Given the description of an element on the screen output the (x, y) to click on. 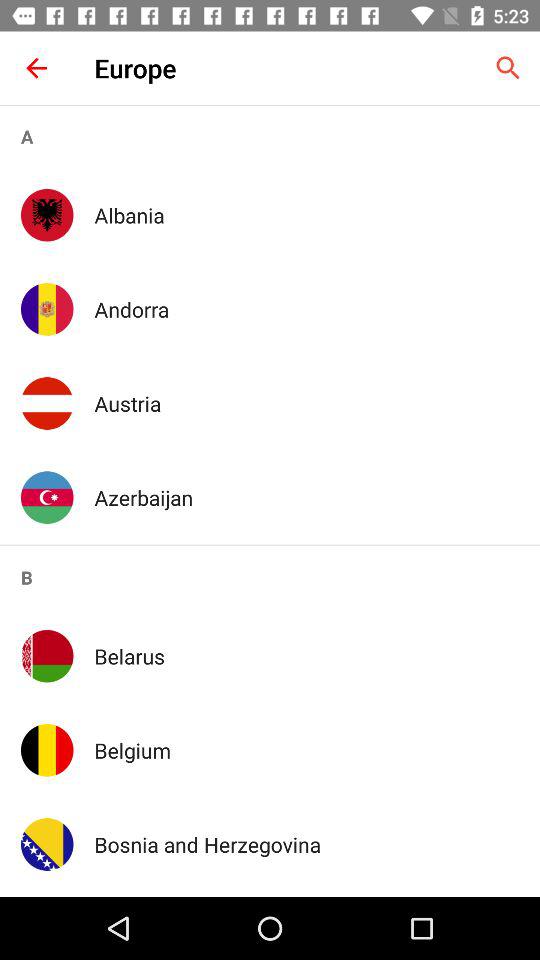
open the icon next to the azerbaijan item (47, 497)
